Given the description of an element on the screen output the (x, y) to click on. 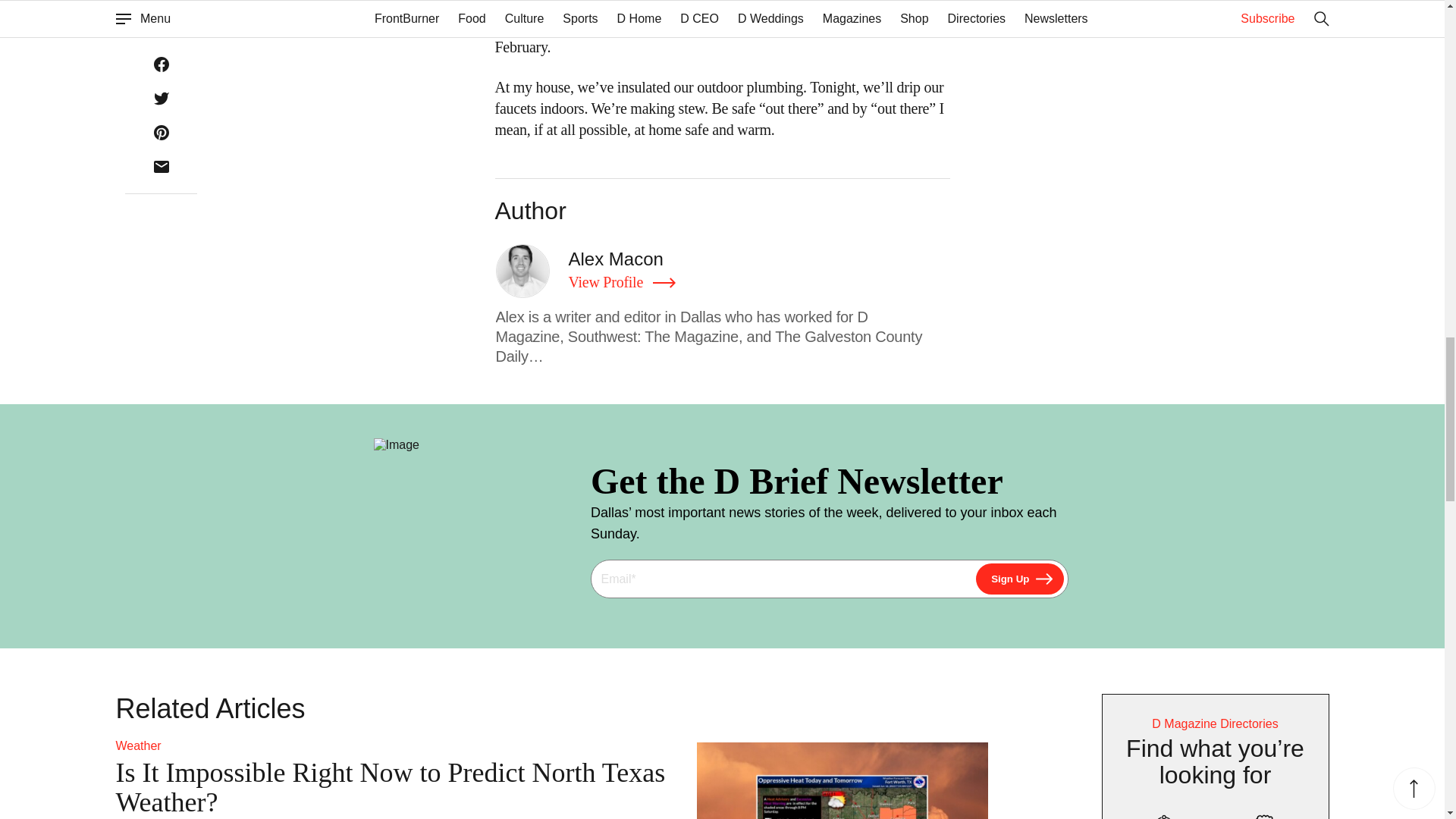
Sign Up (1018, 578)
